Given the description of an element on the screen output the (x, y) to click on. 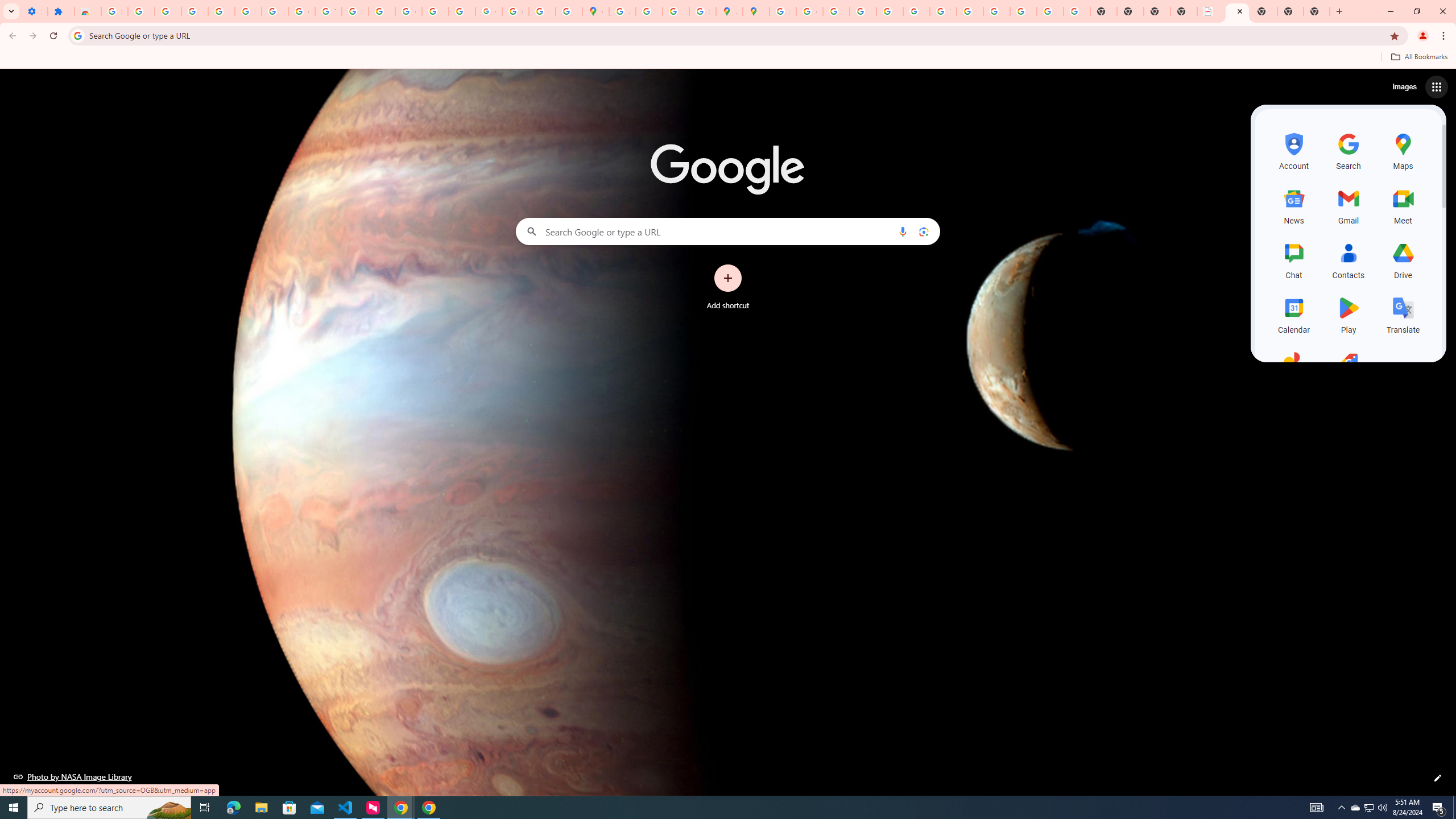
Sign in - Google Accounts (248, 11)
Shopping, row 5 of 5 and column 2 of 3 in the first section (1348, 368)
Sign in - Google Accounts (114, 11)
